Given the description of an element on the screen output the (x, y) to click on. 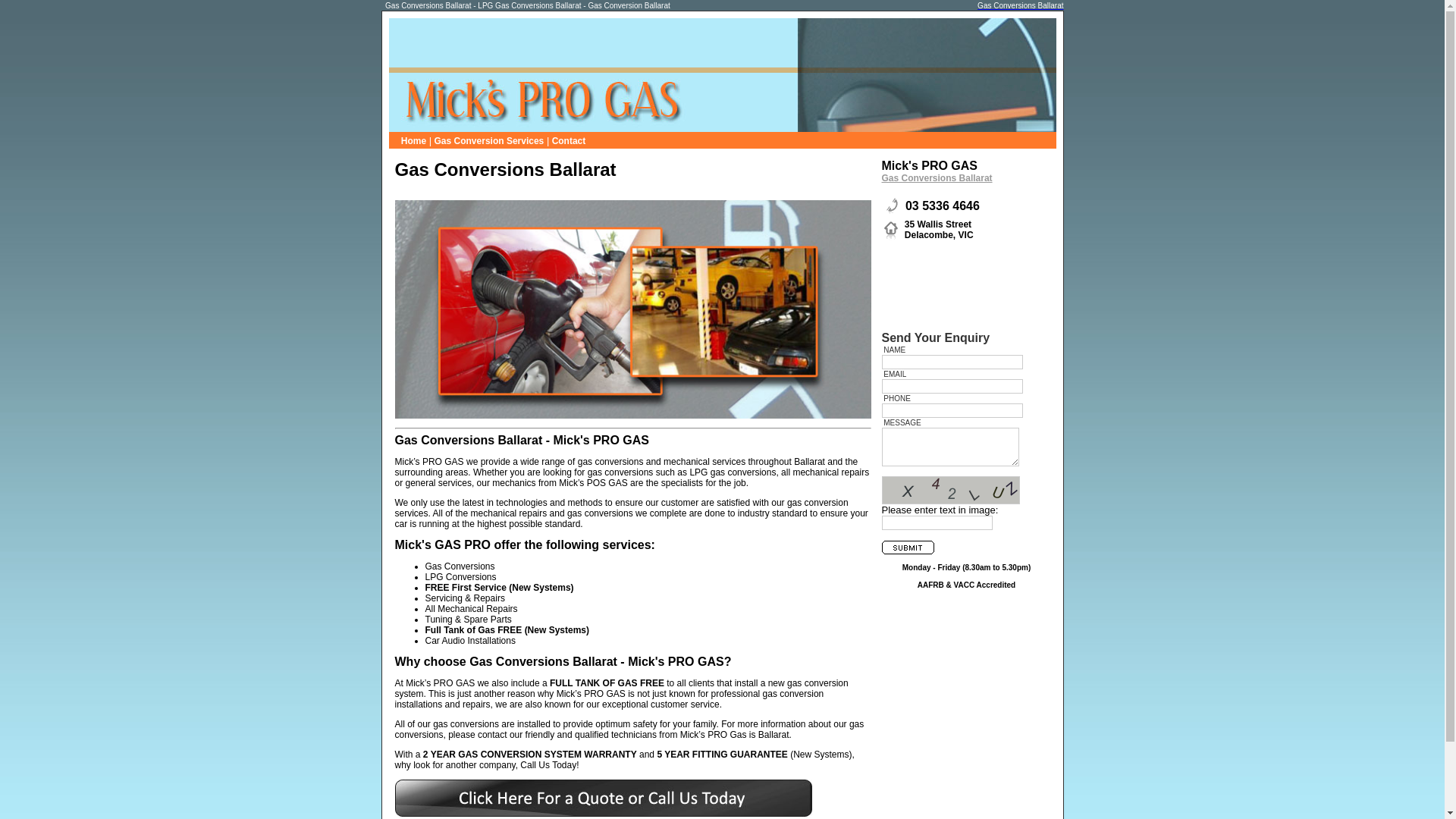
Gas Conversion Services Element type: text (489, 139)
Home Element type: text (413, 139)
Gas Conversions Ballarat Element type: text (1020, 5)
Location - Service Area Element type: hover (890, 229)
Phone Element type: hover (890, 205)
Gas Conversions Ballarat Element type: text (966, 183)
Contact Element type: text (569, 139)
